Given the description of an element on the screen output the (x, y) to click on. 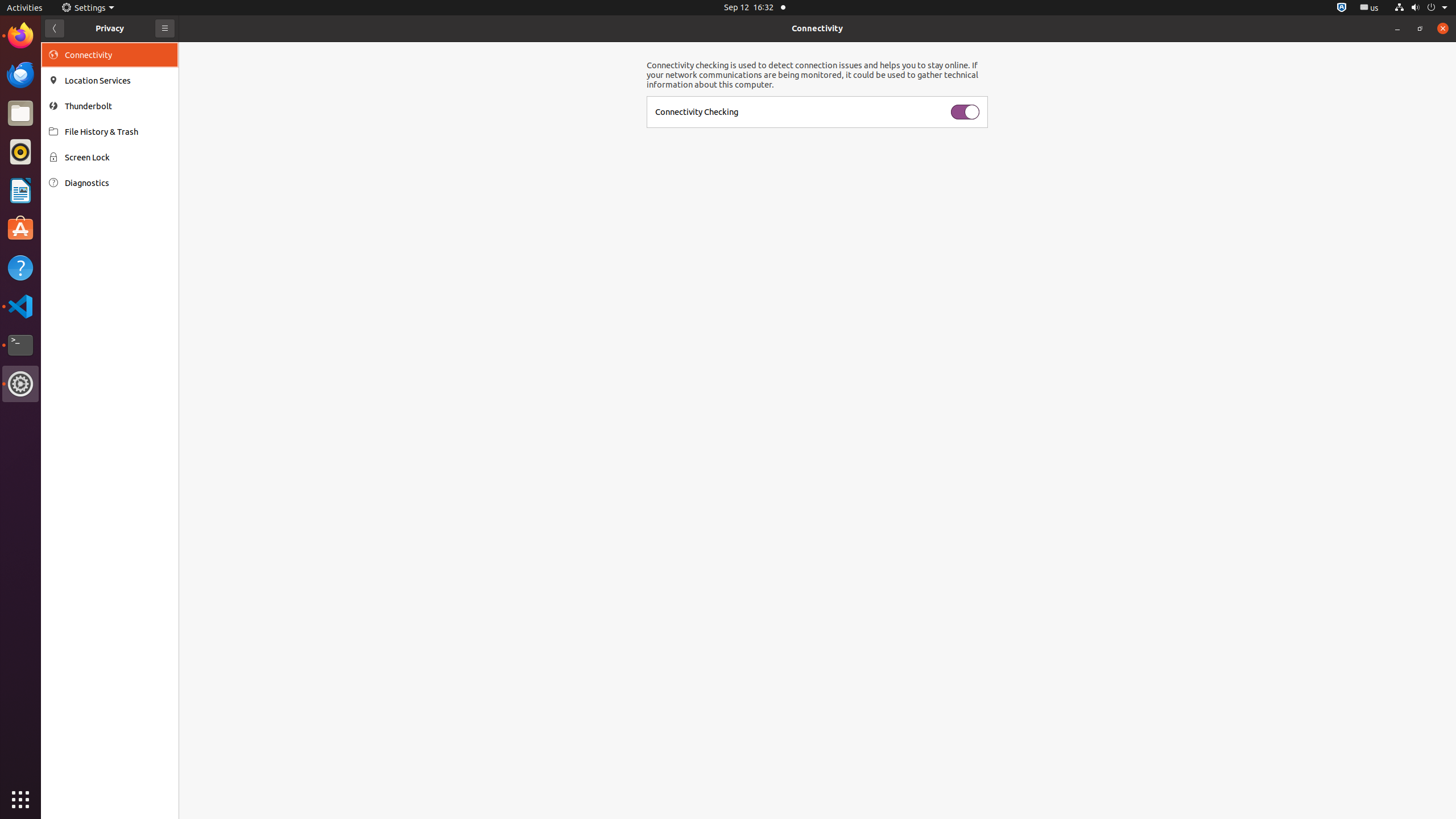
Terminal Element type: push-button (20, 344)
Settings Element type: menu (87, 7)
Settings Element type: push-button (20, 383)
File History & Trash Element type: label (117, 131)
